Given the description of an element on the screen output the (x, y) to click on. 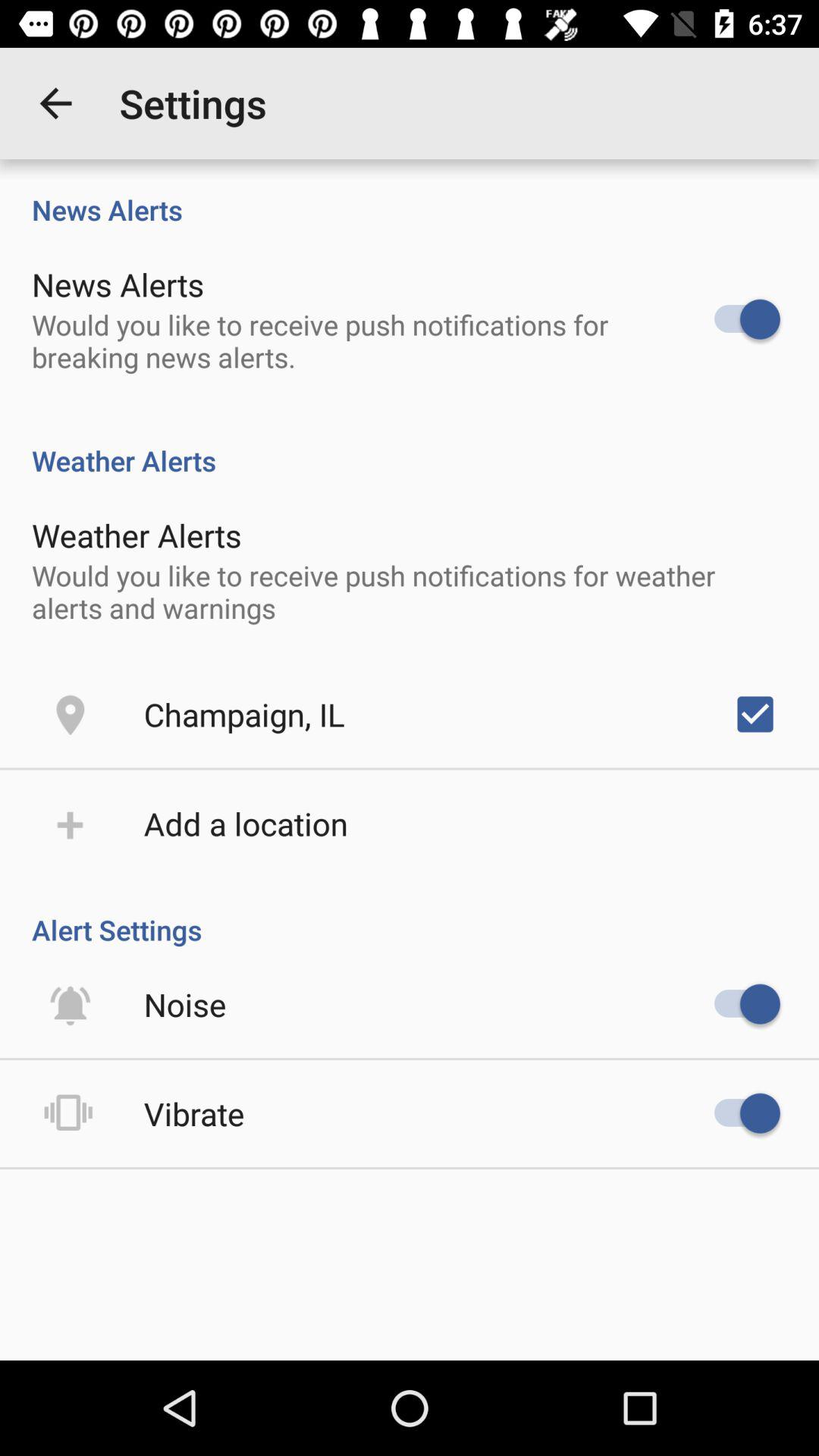
tap the alert settings icon (409, 913)
